Given the description of an element on the screen output the (x, y) to click on. 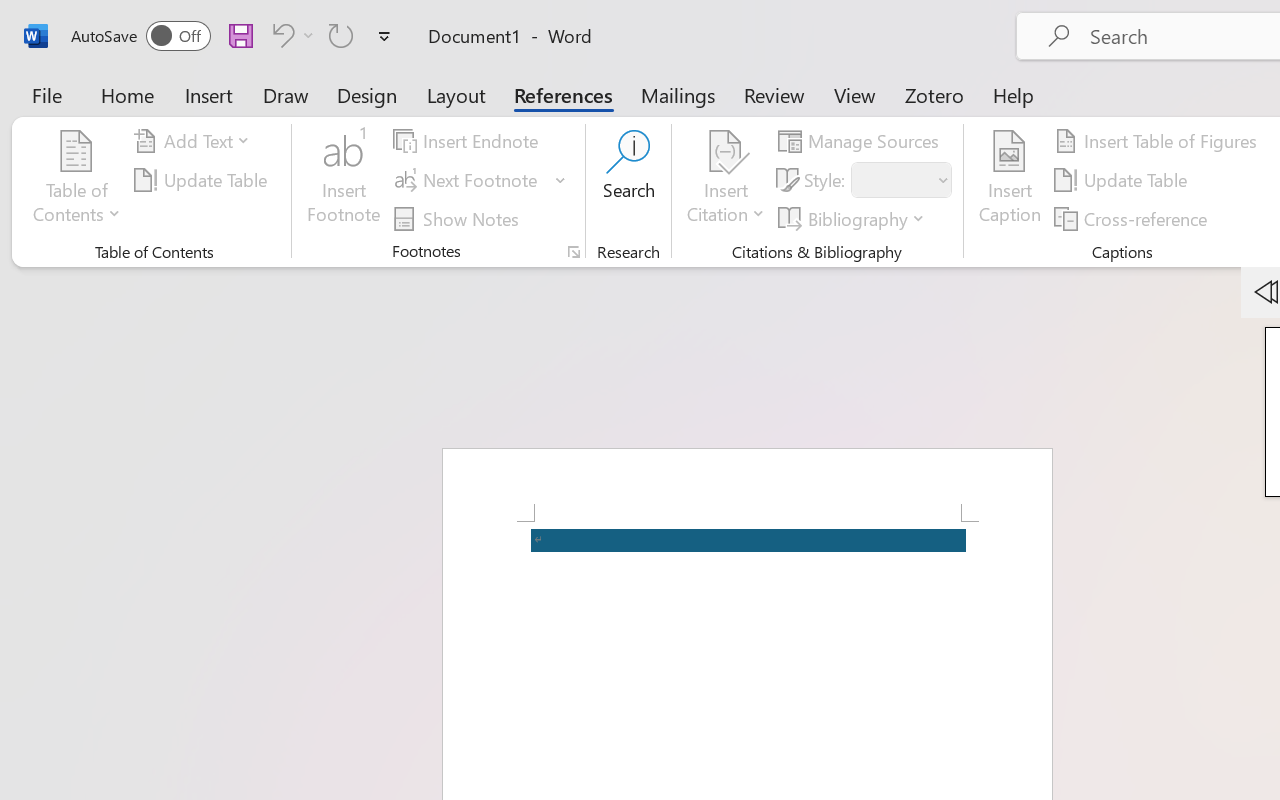
Repeat Accessibility Checker (341, 35)
Next Footnote (479, 179)
Table of Contents (77, 179)
Search (628, 179)
Style (892, 179)
Next Footnote (468, 179)
